Given the description of an element on the screen output the (x, y) to click on. 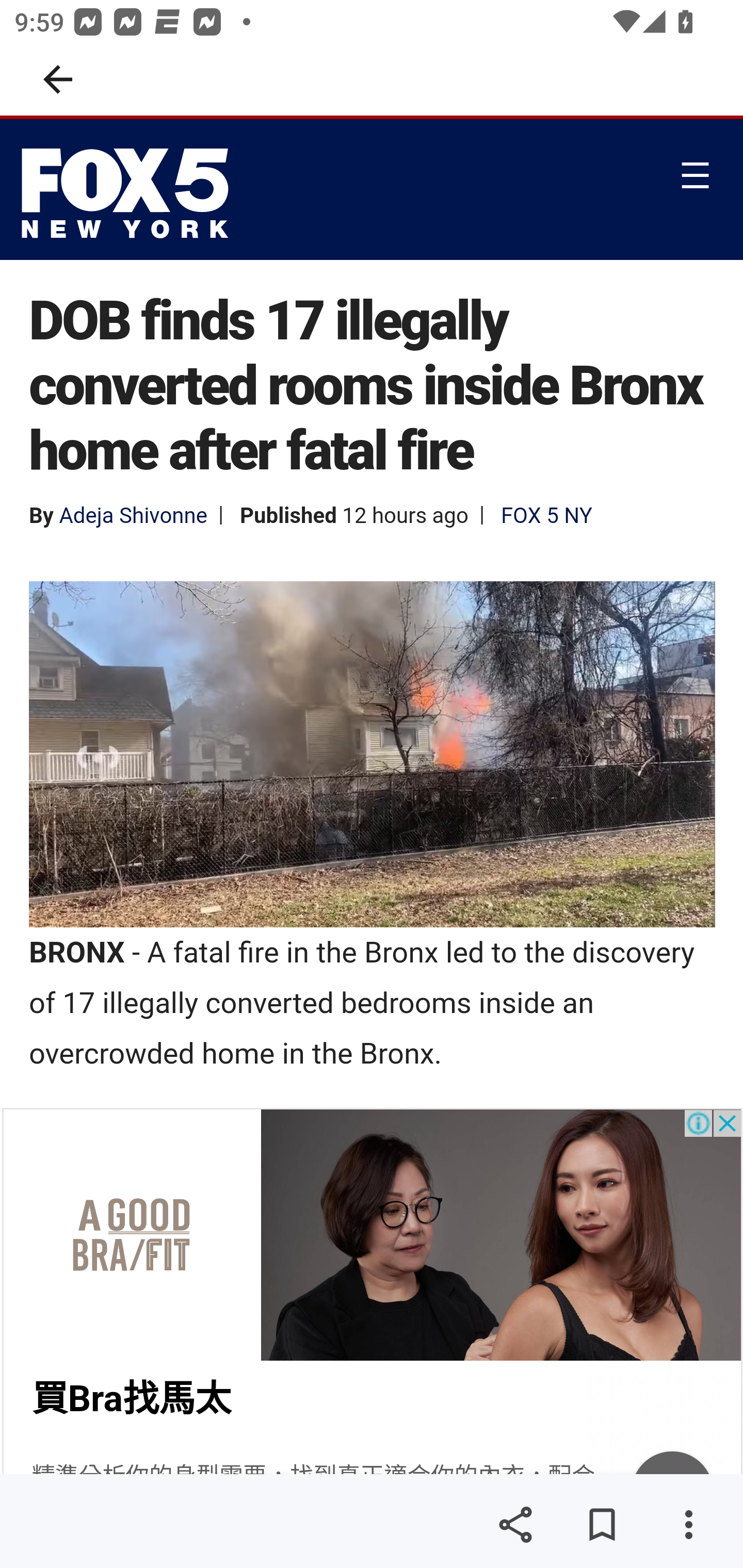
Navigate up (57, 79)
☰ (694, 174)
Fox (129, 192)
Adeja Shivonne (132, 514)
FOX 5 NY (546, 514)
Share (514, 1524)
Save for later (601, 1524)
More options (688, 1524)
